Given the description of an element on the screen output the (x, y) to click on. 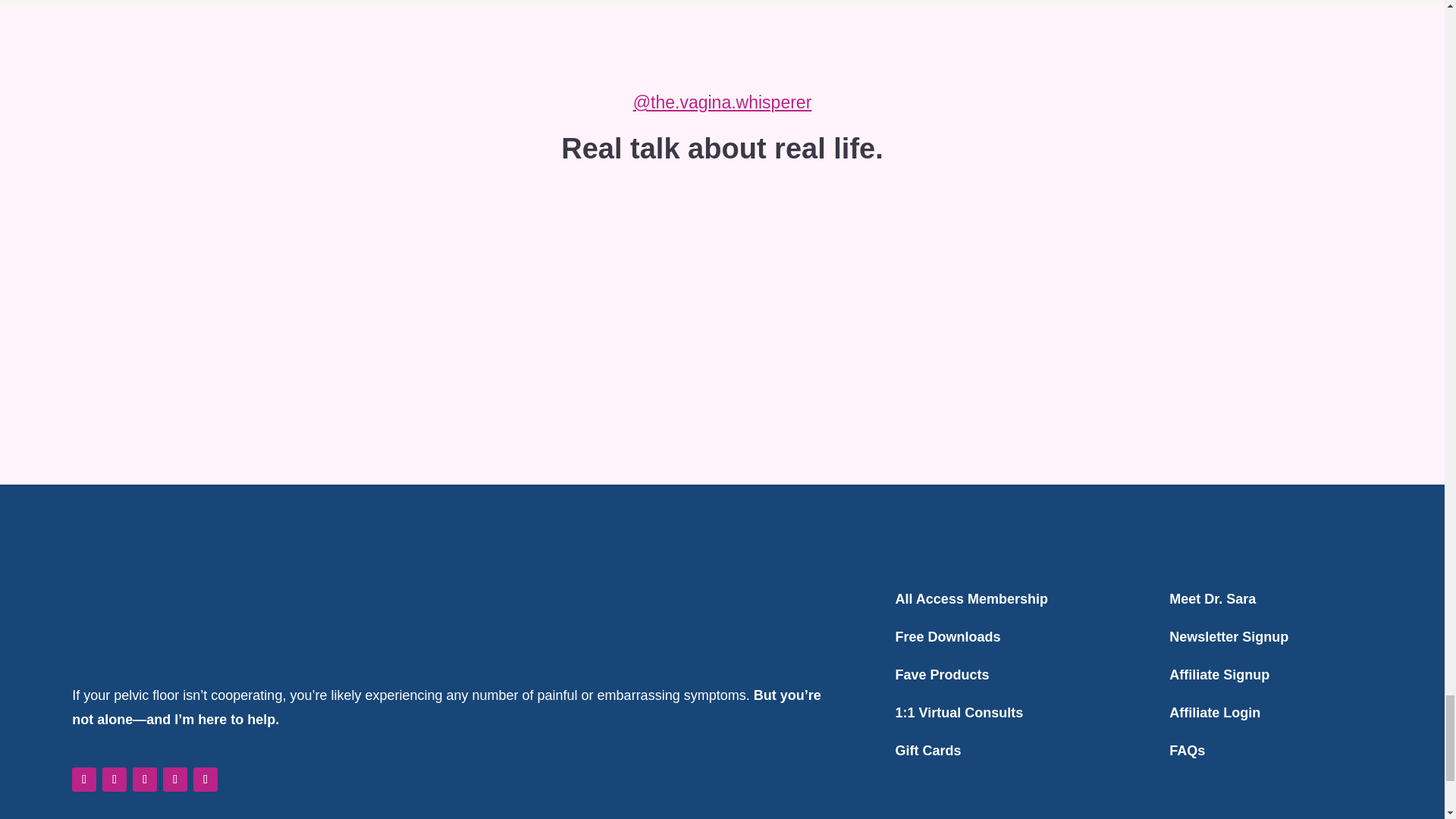
Follow on Facebook (113, 779)
Follow on LinkedIn (175, 779)
Follow on Youtube (144, 779)
Follow on Instagram (83, 779)
Follow on TikTok (204, 779)
213pelvichealthjune23-1667 copy (921, 296)
ig2 (521, 296)
ig3 (722, 296)
Vagina-Whisperer-Logo-Alternate-white-RGB-HR (184, 617)
ig5 (1121, 296)
